Given the description of an element on the screen output the (x, y) to click on. 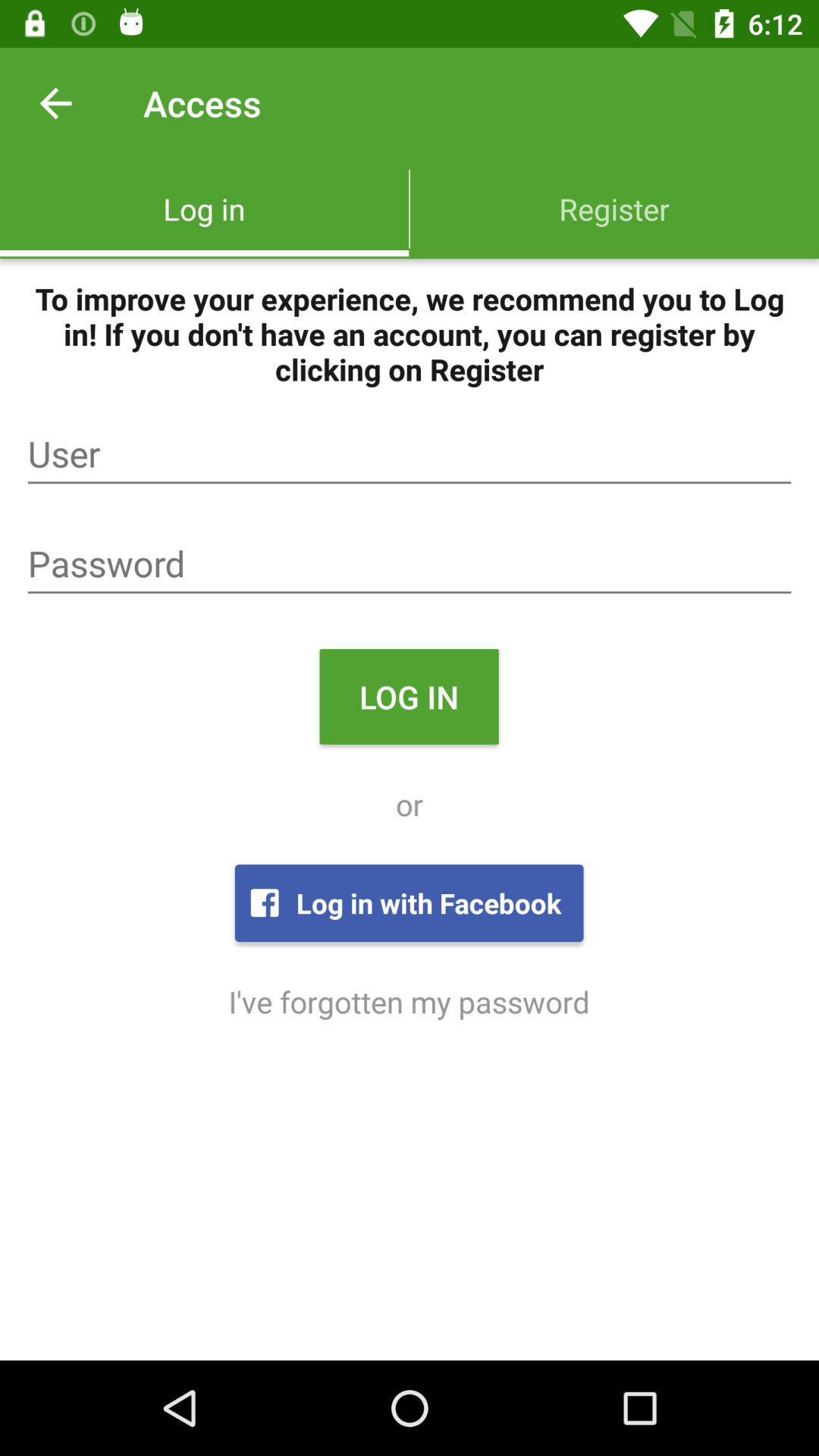
scroll to i ve forgotten item (408, 1001)
